Given the description of an element on the screen output the (x, y) to click on. 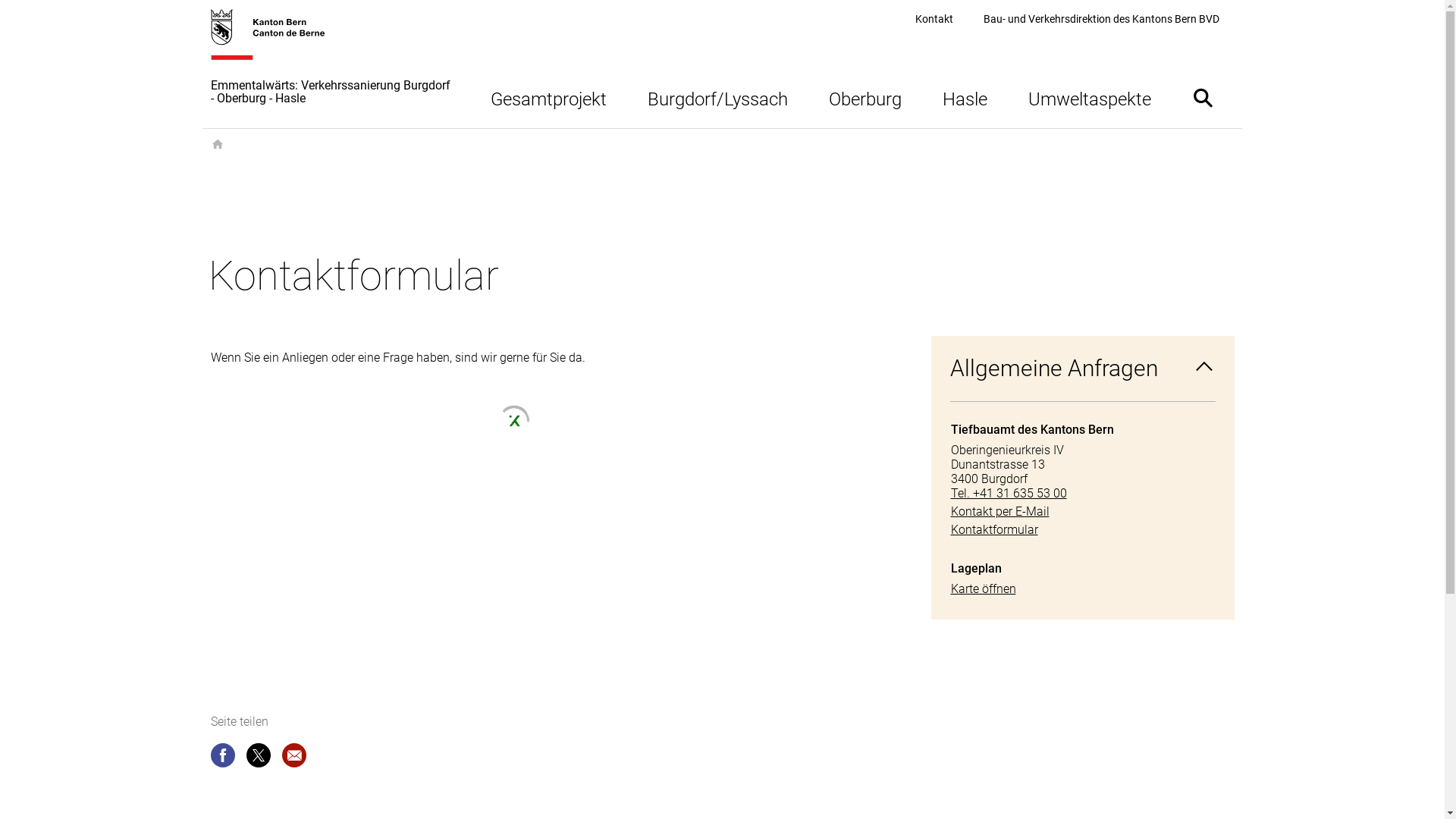
Hasle Element type: text (964, 96)
Umweltaspekte Element type: text (1088, 96)
Bau- und Verkehrsdirektion des Kantons Bern BVD Element type: text (1101, 19)
Burgdorf/Lyssach Element type: text (716, 96)
Allgemeine Anfragen Element type: text (1082, 368)
Tel. +41 31 635 53 00 Element type: text (1082, 493)
Oberburg Element type: text (865, 96)
Suche ein- oder ausblenden Element type: text (1201, 96)
Gesamtprojekt Element type: text (548, 96)
Seite teilen Element type: text (222, 758)
Kontaktformular Element type: text (1082, 529)
Kontakt per E-Mail Element type: text (1082, 511)
Kontakt Element type: text (934, 19)
Seite teilen Element type: text (257, 758)
